Given the description of an element on the screen output the (x, y) to click on. 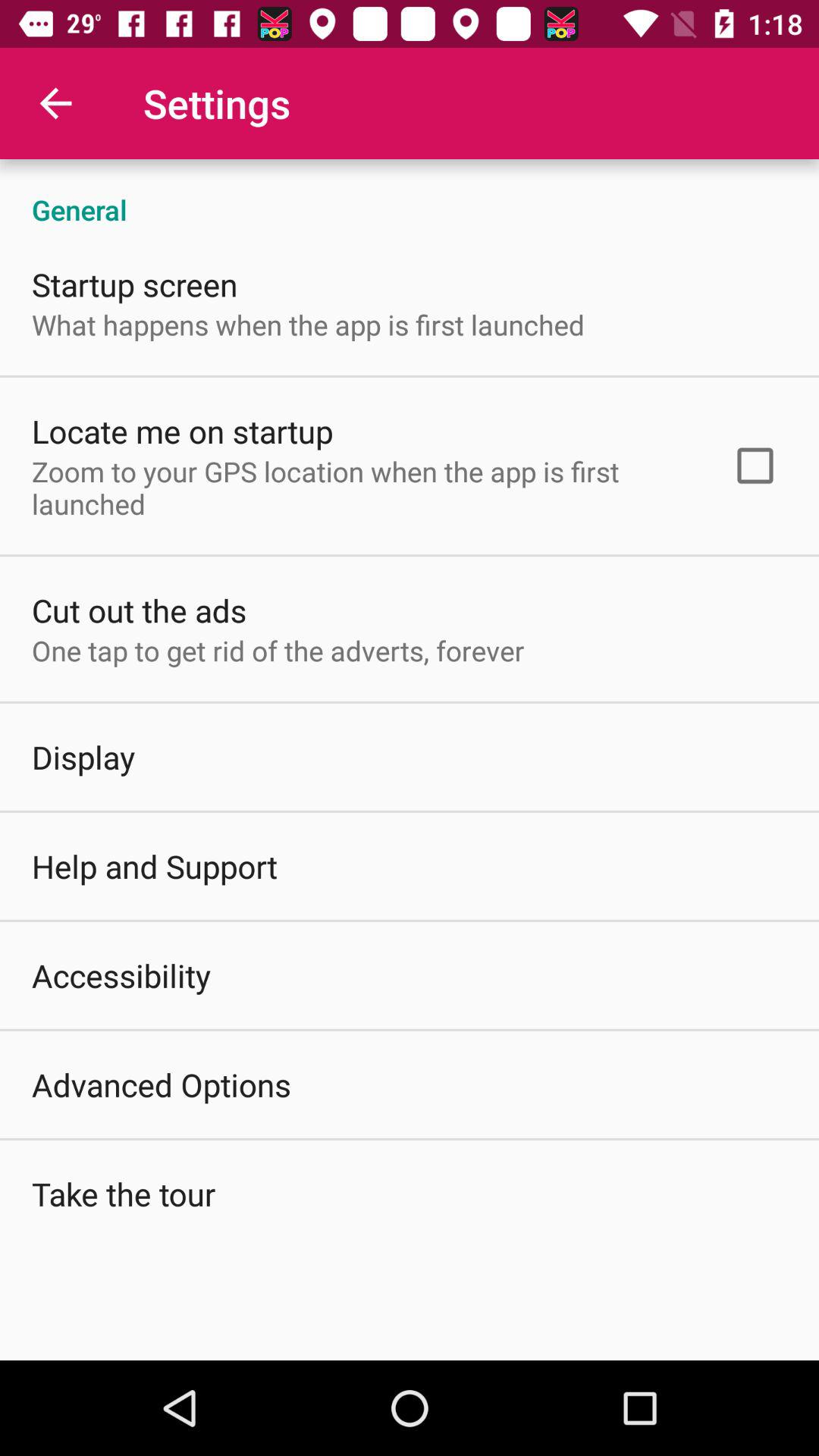
swipe until the what happens when icon (307, 324)
